Given the description of an element on the screen output the (x, y) to click on. 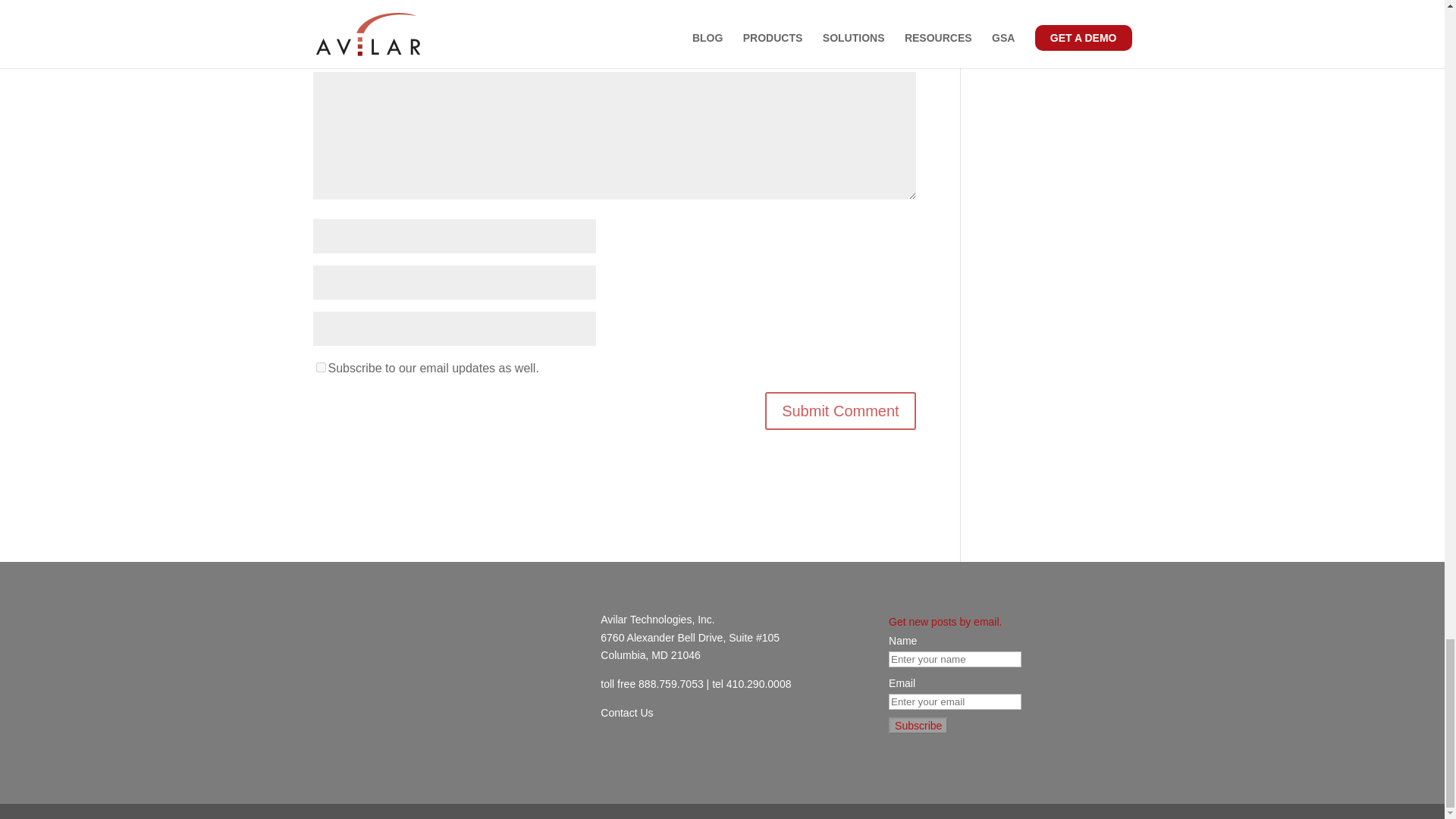
Subscribe (917, 725)
yes (319, 367)
Submit Comment (840, 410)
Submit Comment (840, 410)
